Given the description of an element on the screen output the (x, y) to click on. 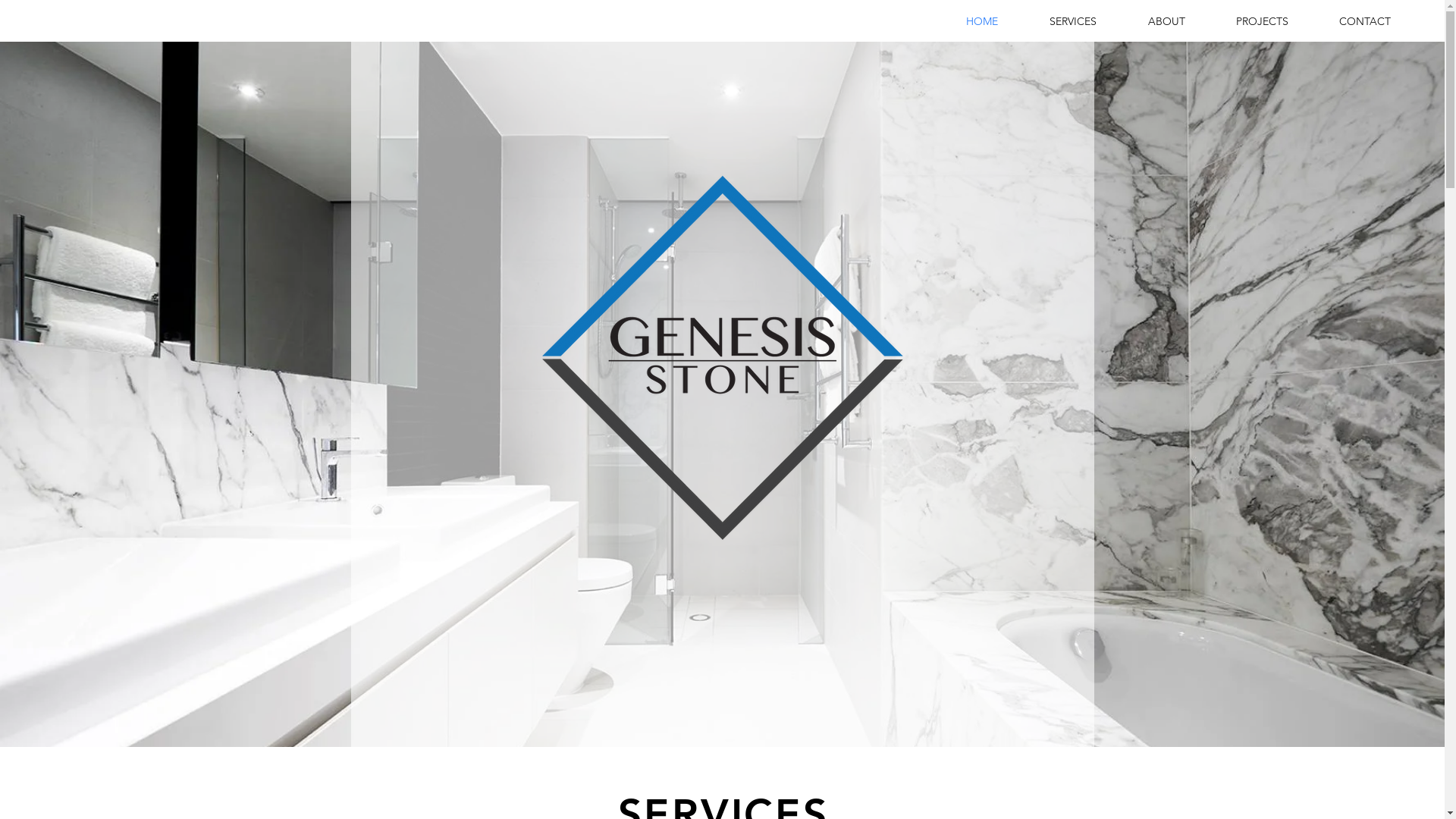
PROJECTS Element type: text (1261, 21)
SERVICES Element type: text (1072, 21)
Genesis Stone -Logo (002).png Element type: hover (721, 357)
CONTACT Element type: text (1364, 21)
HOME Element type: text (981, 21)
ABOUT Element type: text (1166, 21)
